Given the description of an element on the screen output the (x, y) to click on. 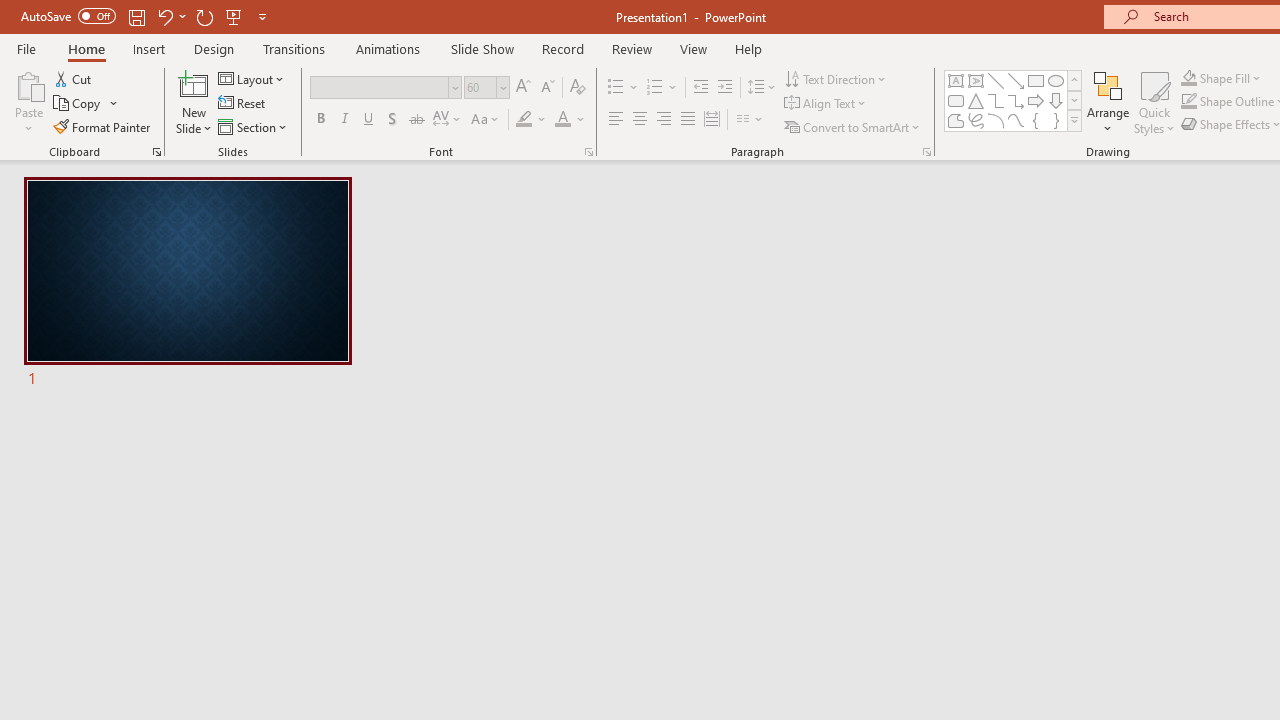
Increase Font Size (522, 87)
Font (385, 87)
AutomationID: ShapesInsertGallery (1014, 100)
Align Right (663, 119)
Curve (1016, 120)
Columns (750, 119)
Numbering (654, 87)
Left Brace (1035, 120)
Shape Fill (1221, 78)
Italic (344, 119)
Shadow (392, 119)
